Given the description of an element on the screen output the (x, y) to click on. 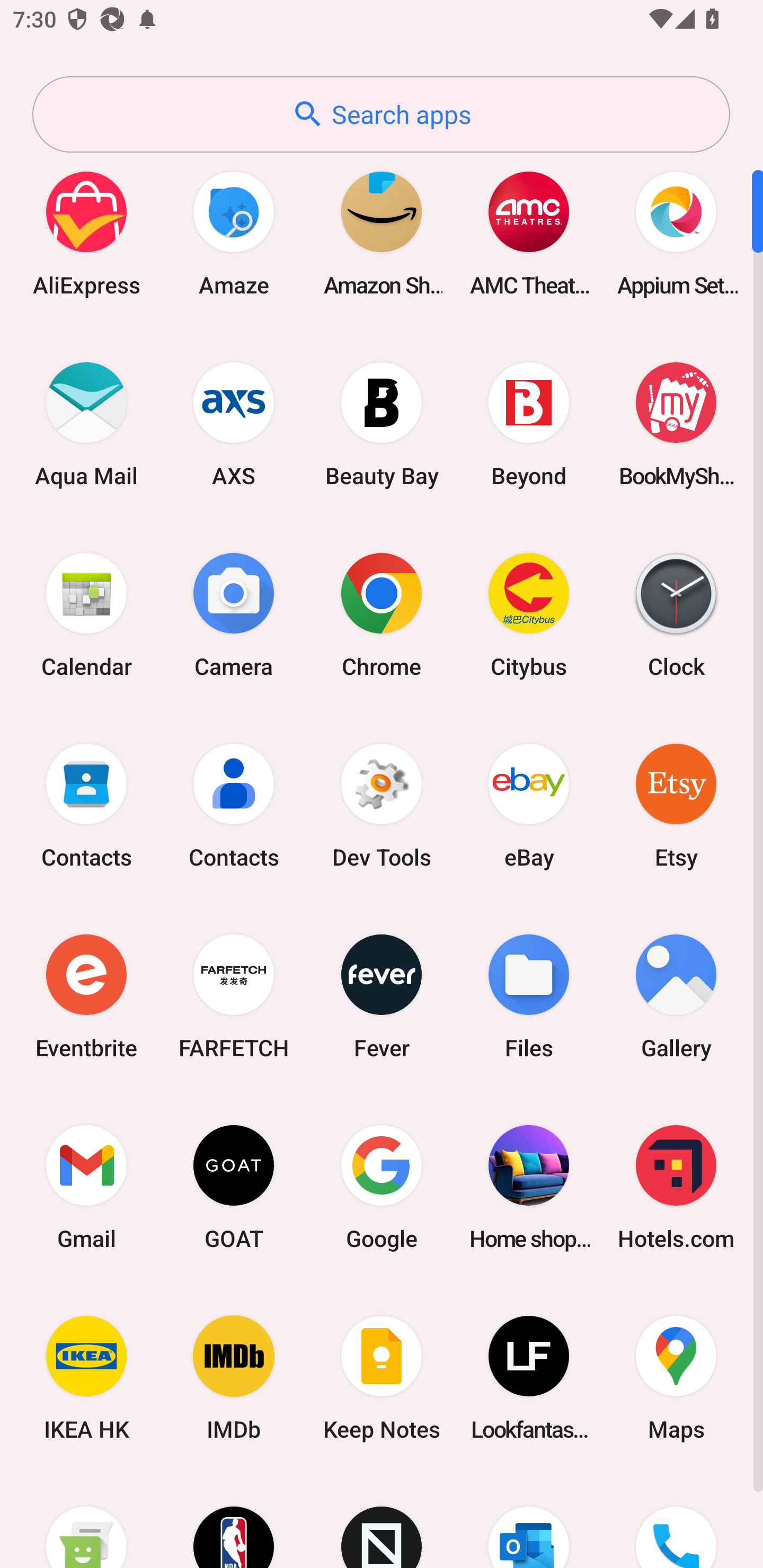
  Search apps (381, 114)
AliExpress (86, 233)
Amaze (233, 233)
Amazon Shopping (381, 233)
AMC Theatres (528, 233)
Appium Settings (676, 233)
Aqua Mail (86, 424)
AXS (233, 424)
Beauty Bay (381, 424)
Beyond (528, 424)
BookMyShow (676, 424)
Calendar (86, 614)
Camera (233, 614)
Chrome (381, 614)
Citybus (528, 614)
Clock (676, 614)
Contacts (86, 805)
Contacts (233, 805)
Dev Tools (381, 805)
eBay (528, 805)
Etsy (676, 805)
Eventbrite (86, 996)
FARFETCH (233, 996)
Fever (381, 996)
Files (528, 996)
Gallery (676, 996)
Gmail (86, 1186)
GOAT (233, 1186)
Google (381, 1186)
Home shopping (528, 1186)
Hotels.com (676, 1186)
IKEA HK (86, 1377)
IMDb (233, 1377)
Keep Notes (381, 1377)
Lookfantastic (528, 1377)
Maps (676, 1377)
